Given the description of an element on the screen output the (x, y) to click on. 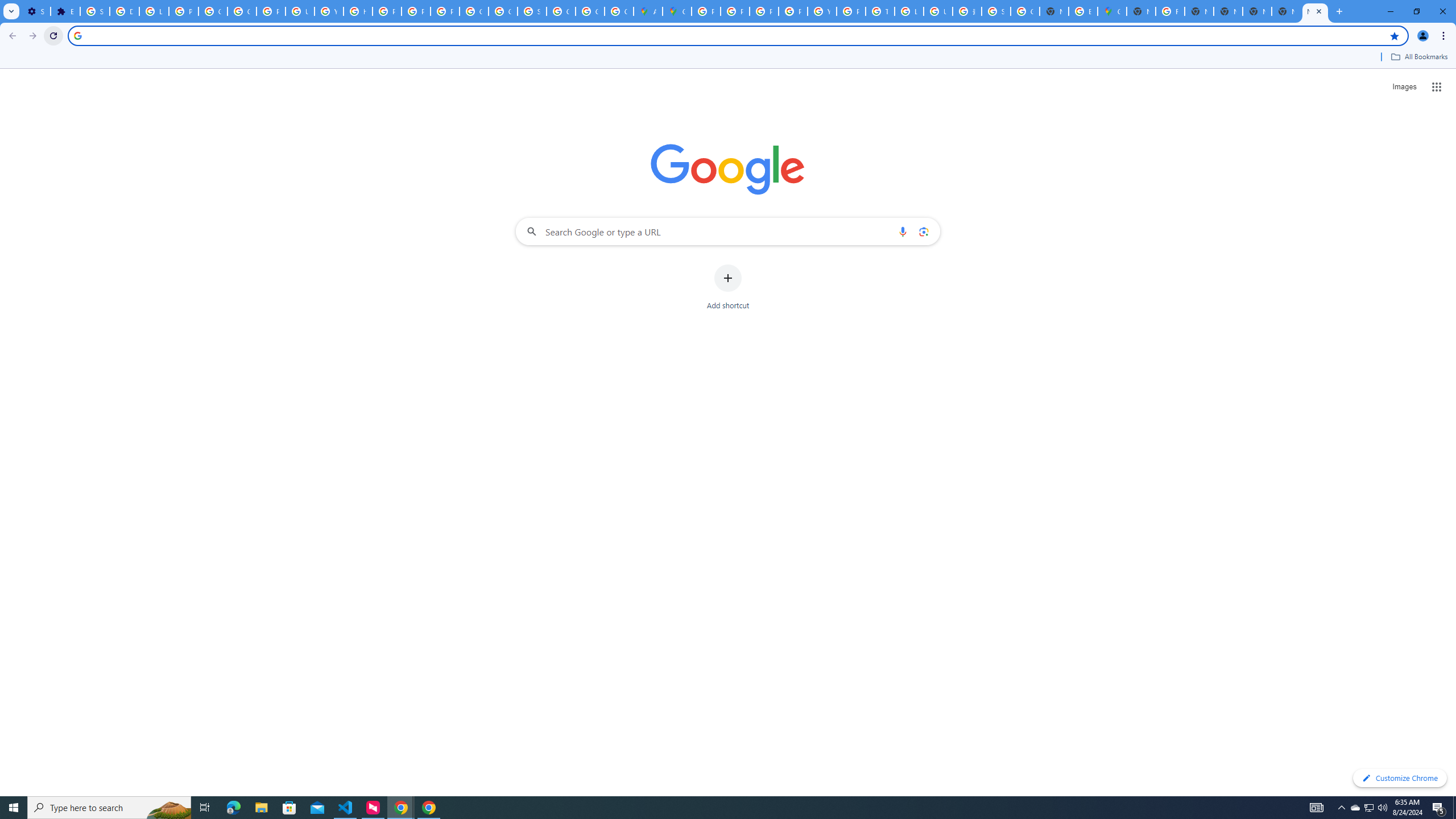
Google Maps (1111, 11)
Privacy Help Center - Policies Help (734, 11)
Bookmarks (728, 58)
